Given the description of an element on the screen output the (x, y) to click on. 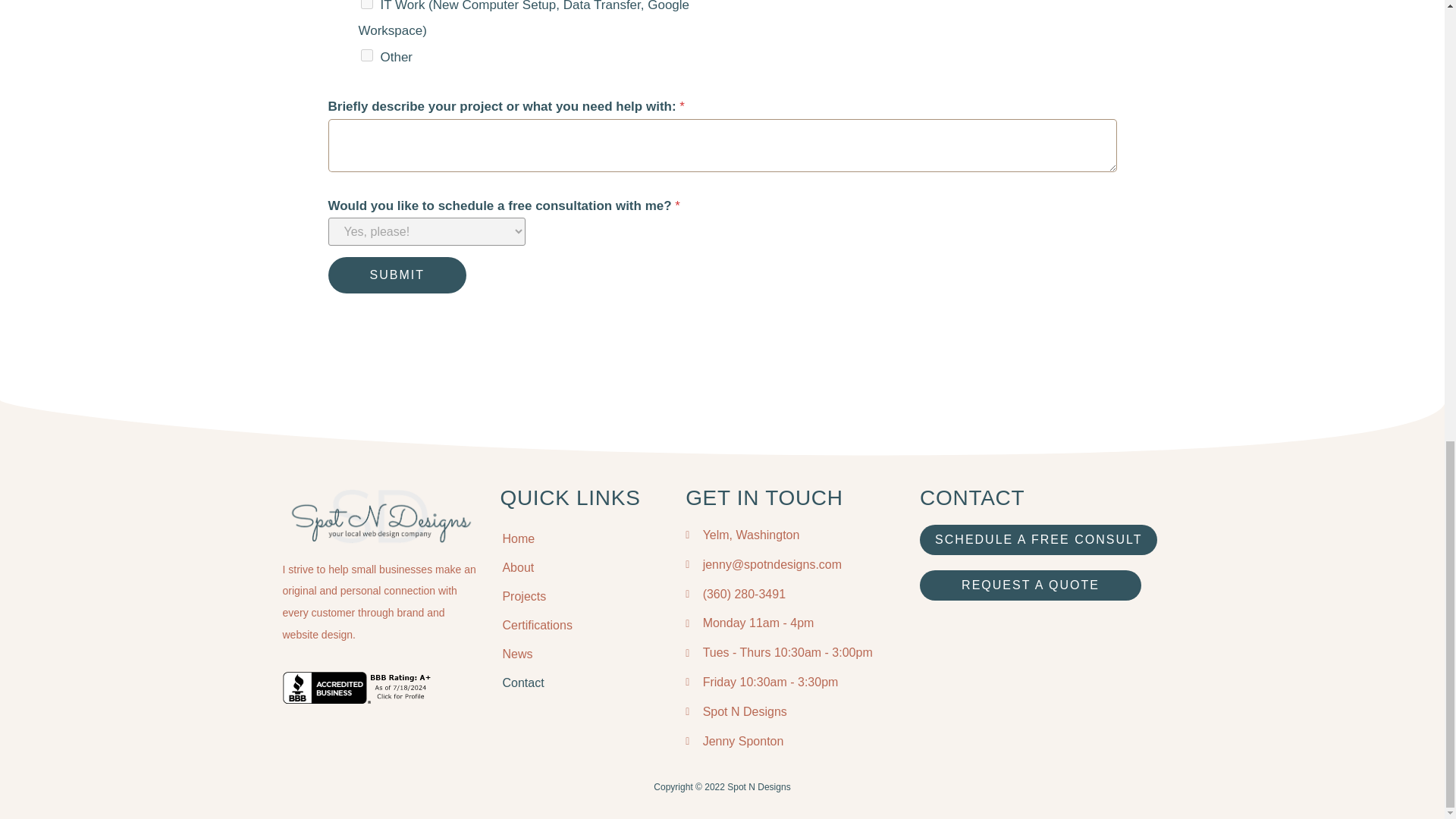
Yelm, Washington (790, 535)
SUBMIT (396, 275)
News (580, 654)
Spot N Designs (790, 712)
Projects (580, 596)
About (580, 567)
Home (580, 538)
Certifications (580, 624)
REQUEST A QUOTE (1030, 585)
Other (366, 55)
SCHEDULE A FREE CONSULT (1038, 539)
Jenny Sponton (790, 741)
Contact (580, 683)
